Given the description of an element on the screen output the (x, y) to click on. 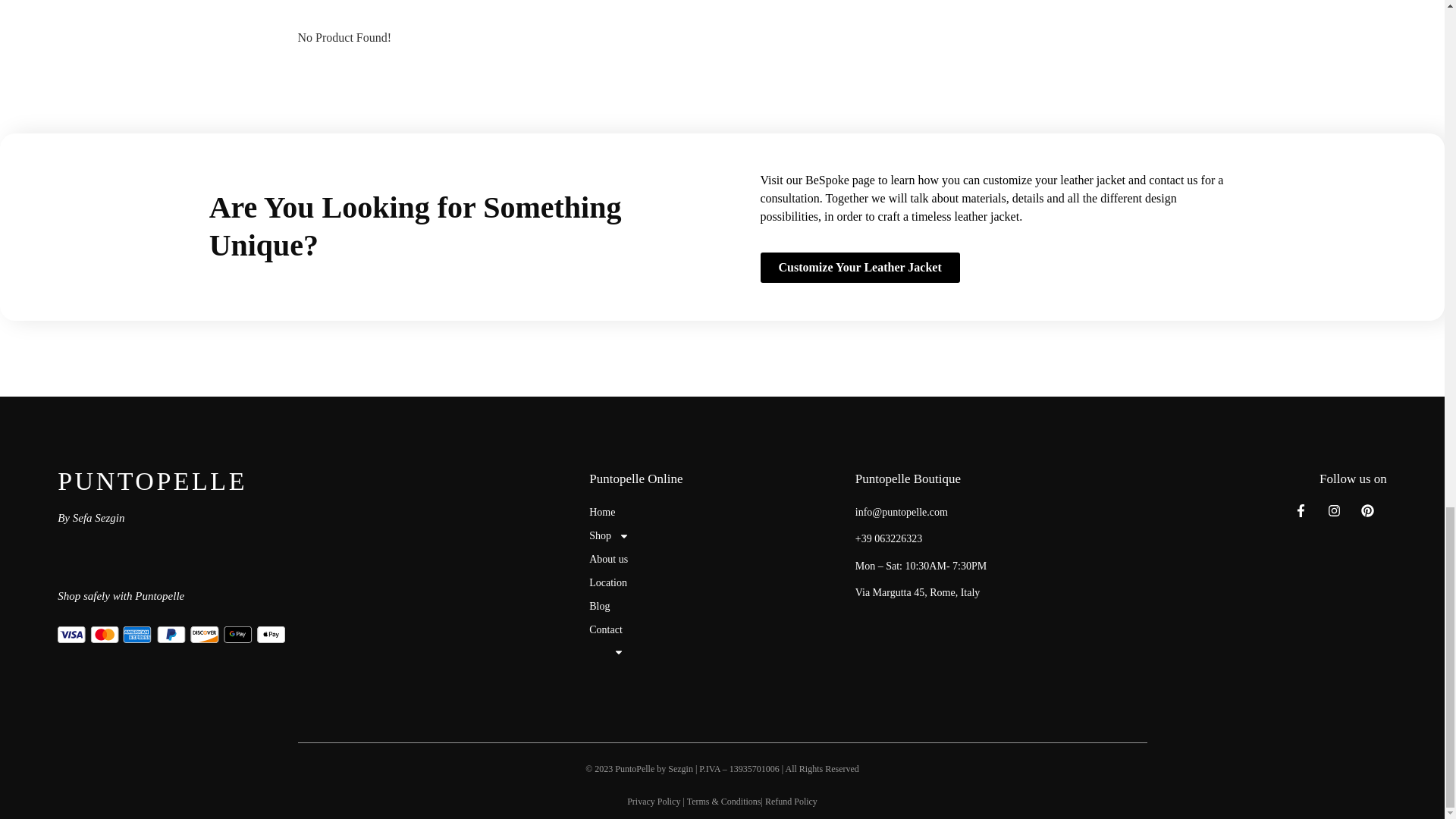
Punto Pelle Leather Shop (631, 512)
